Given the description of an element on the screen output the (x, y) to click on. 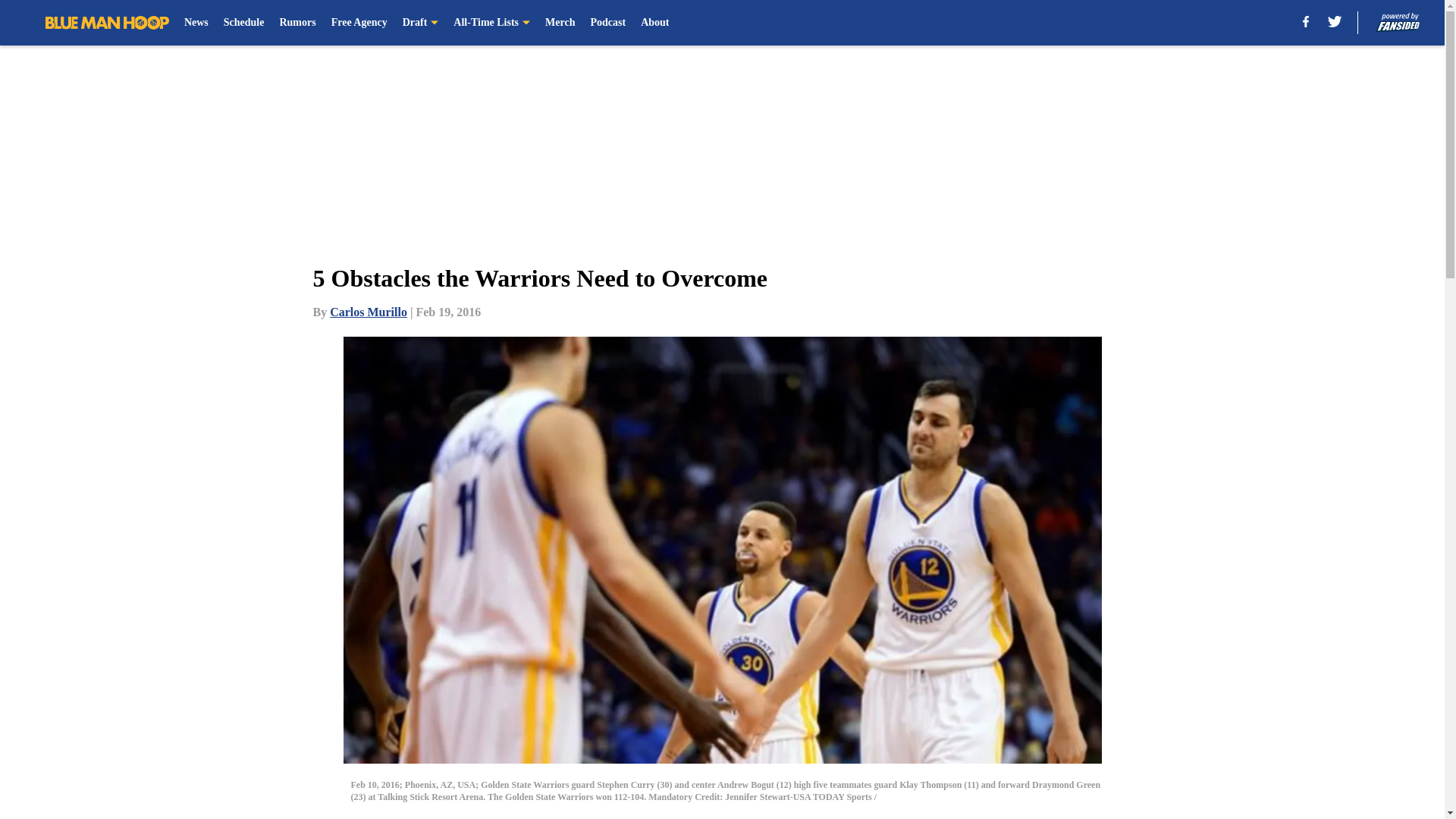
Draft (421, 22)
Carlos Murillo (368, 311)
News (196, 22)
Merch (559, 22)
Free Agency (359, 22)
Podcast (607, 22)
Rumors (297, 22)
All-Time Lists (490, 22)
About (654, 22)
Schedule (244, 22)
